Given the description of an element on the screen output the (x, y) to click on. 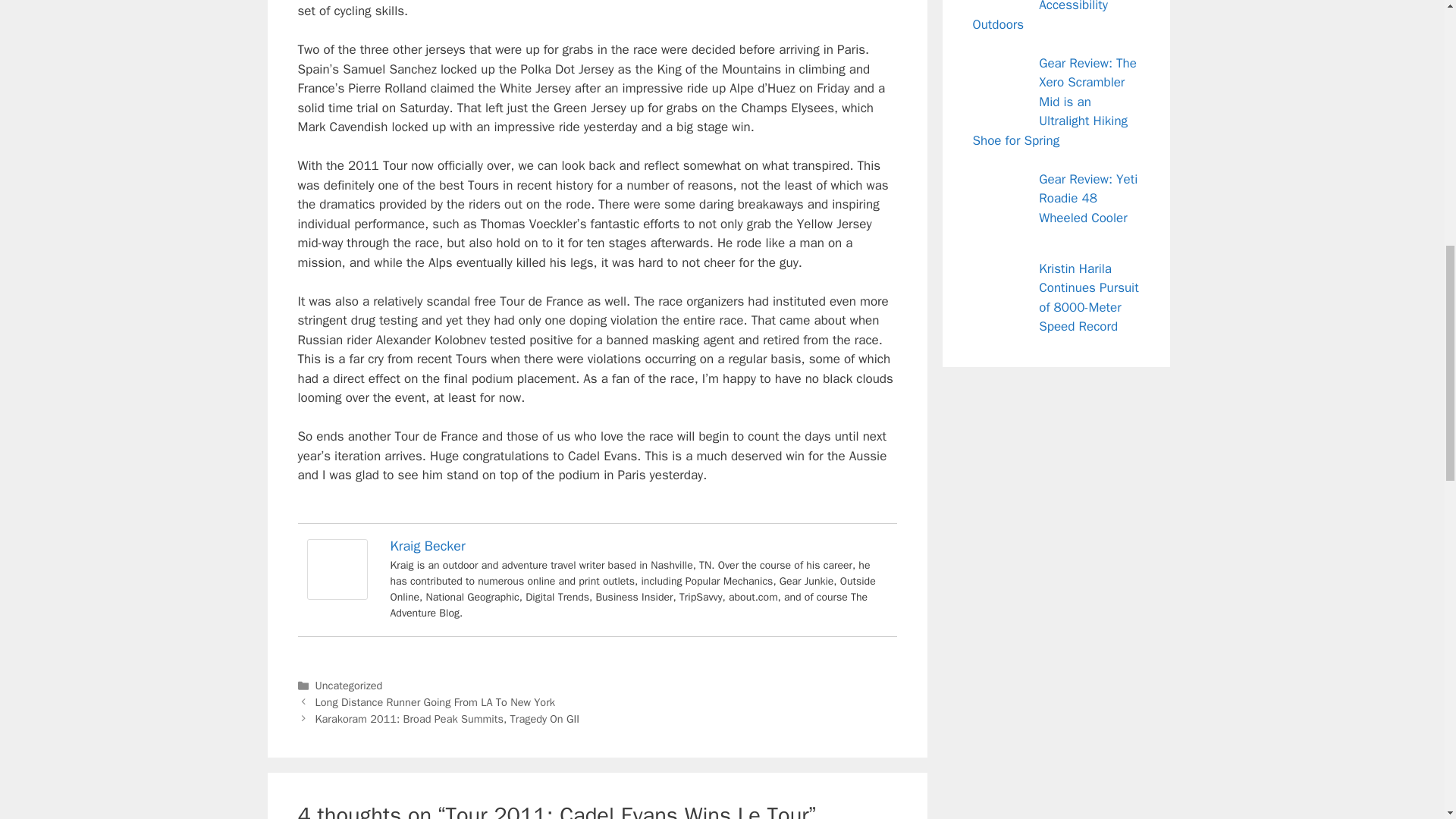
Uncategorized (348, 685)
Long Distance Runner Going From LA To New York (434, 702)
Kraig Becker (335, 595)
Karakoram 2011: Broad Peak Summits, Tragedy On GII (447, 718)
Kraig Becker (427, 545)
